Given the description of an element on the screen output the (x, y) to click on. 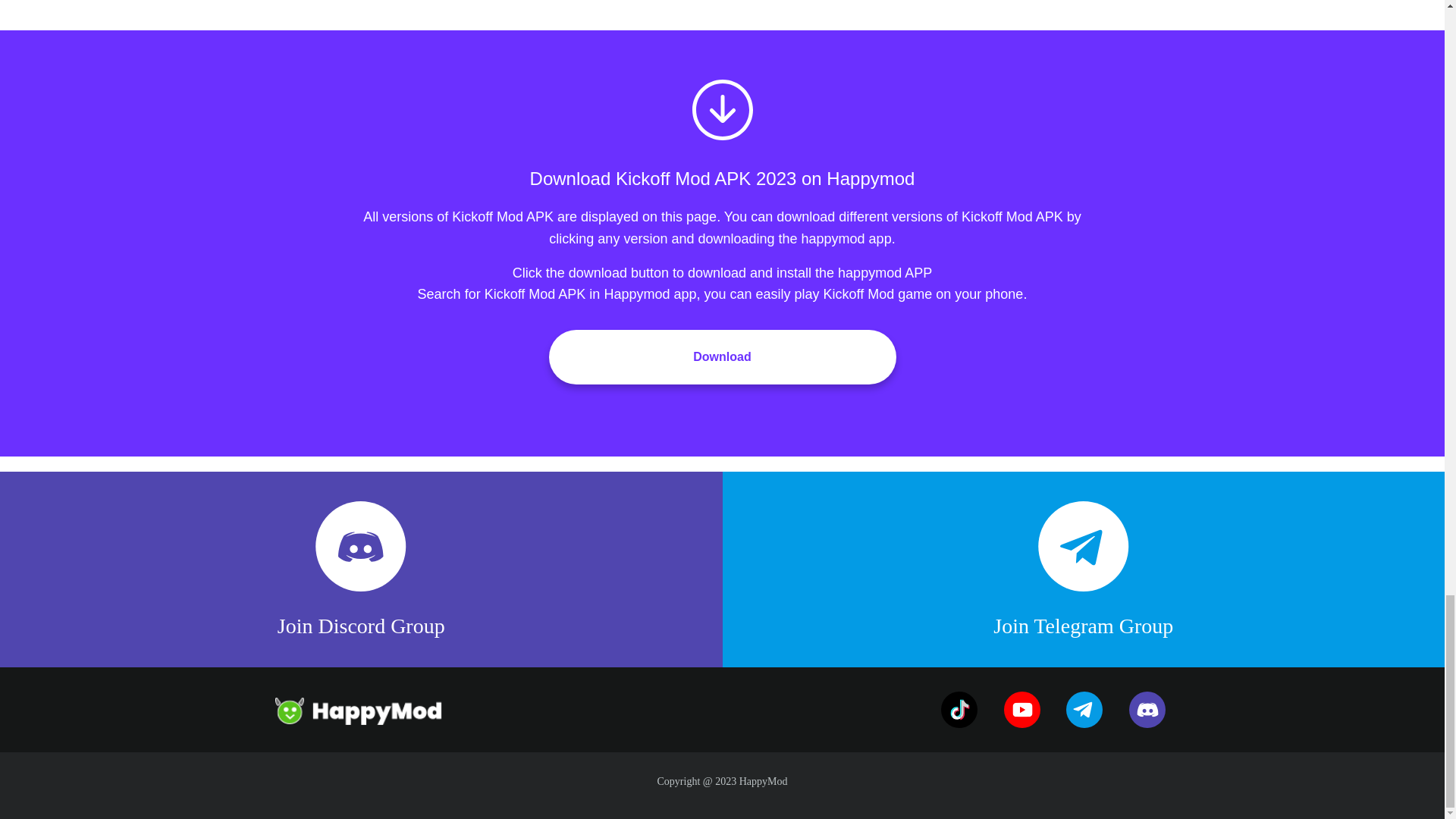
Join Discord Group (361, 569)
Download (722, 357)
